Given the description of an element on the screen output the (x, y) to click on. 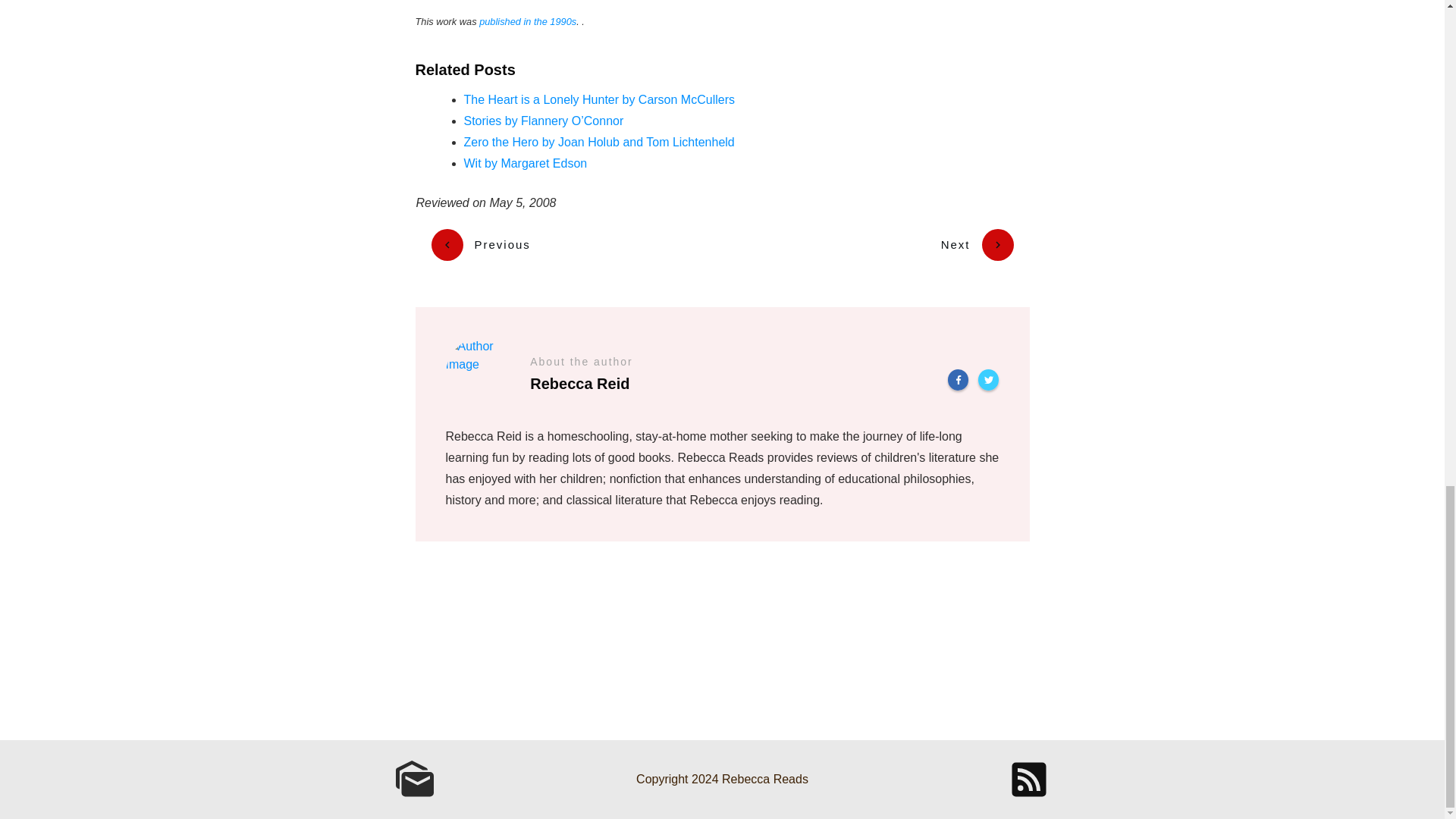
published in the 1990s (527, 21)
